Given the description of an element on the screen output the (x, y) to click on. 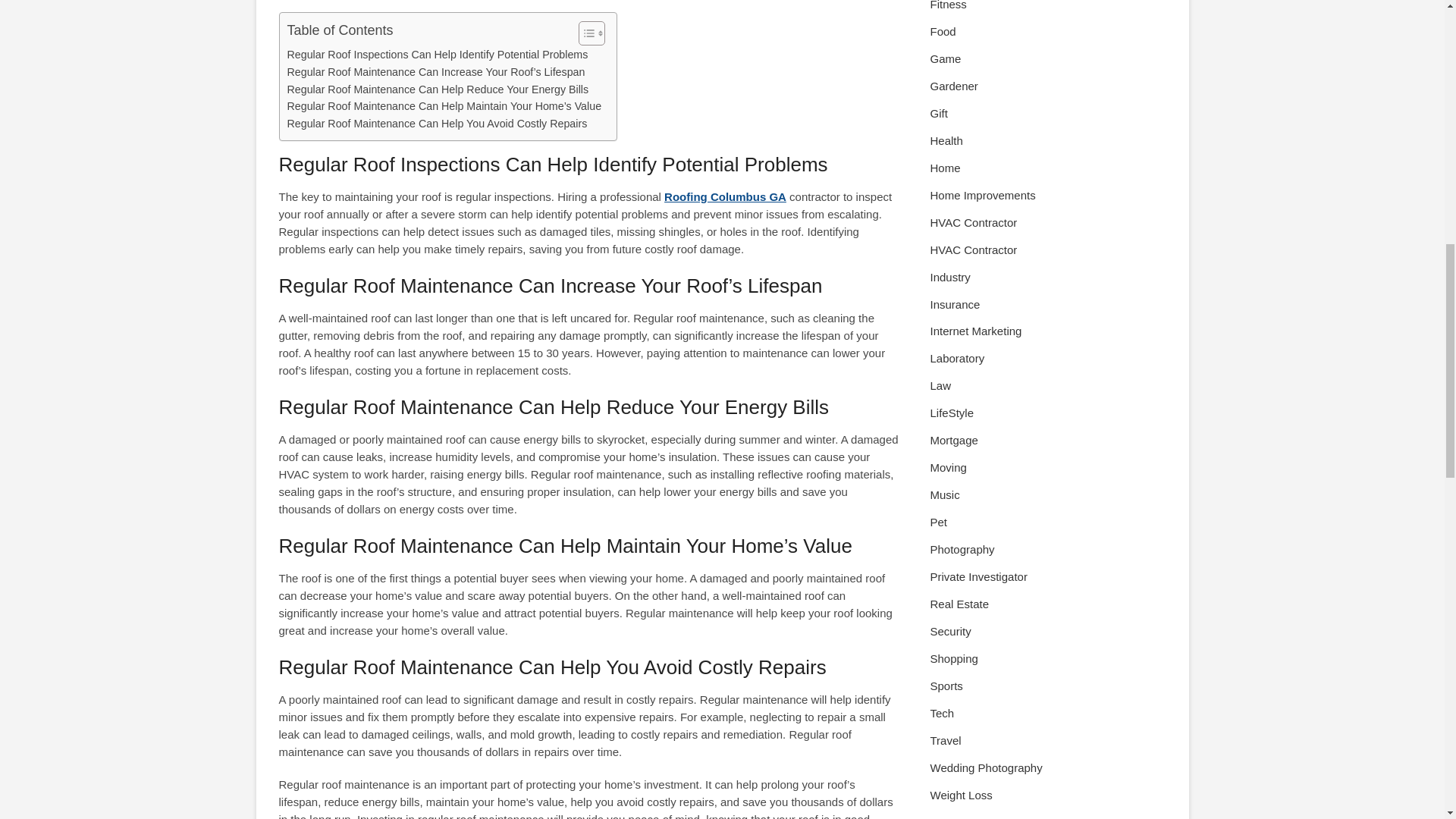
Roofing Columbus GA (724, 196)
Regular Roof Maintenance Can Help Reduce Your Energy Bills (437, 89)
Regular Roof Maintenance Can Help Reduce Your Energy Bills (437, 89)
Regular Roof Maintenance Can Help You Avoid Costly Repairs (436, 123)
Regular Roof Maintenance Can Help You Avoid Costly Repairs (436, 123)
